Given the description of an element on the screen output the (x, y) to click on. 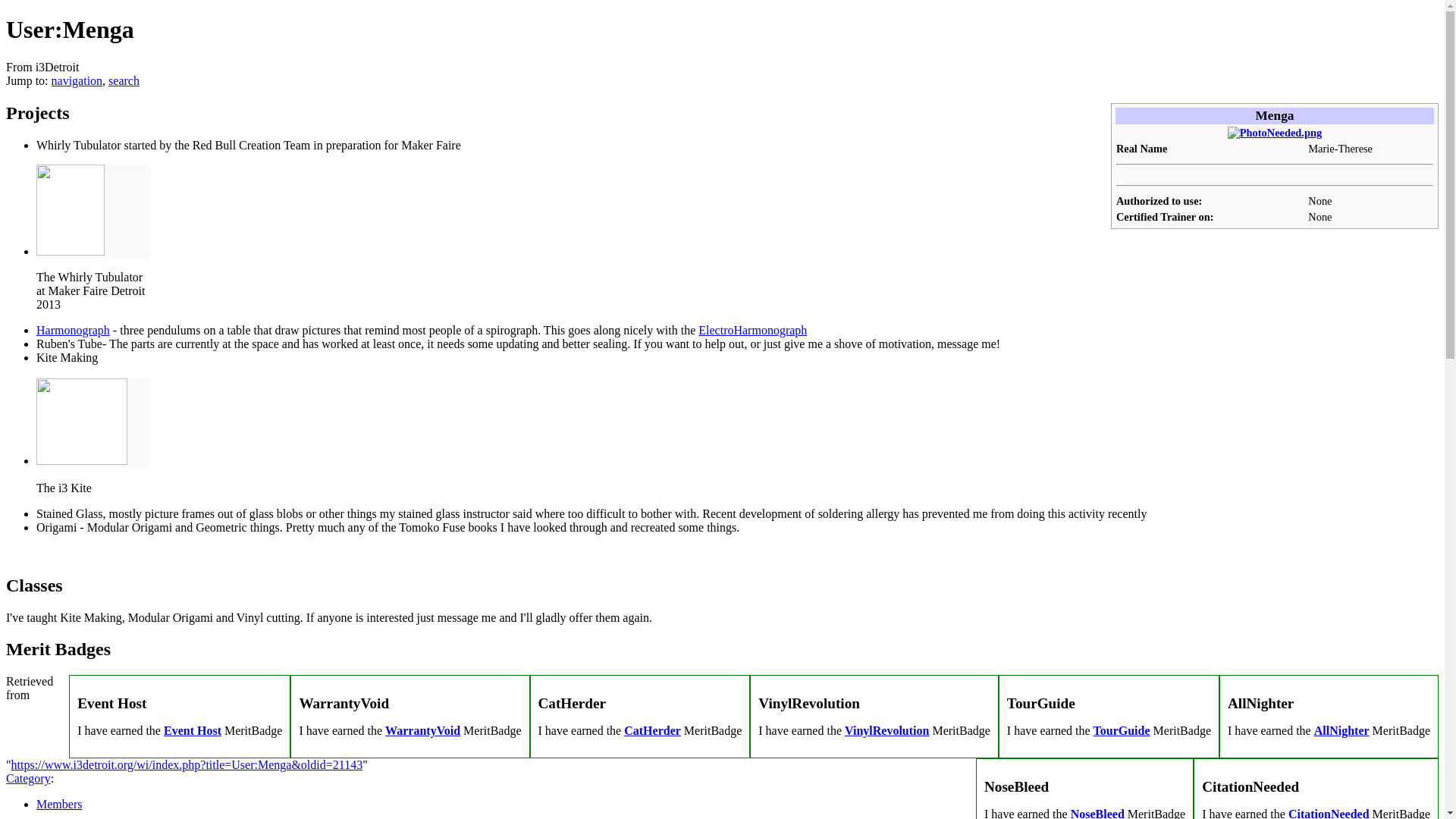
Harmonograph (73, 329)
WarrantyVoid (422, 730)
Event Host (192, 730)
NoseBleed (1097, 813)
Special:Categories (27, 778)
Harmonograph (73, 329)
ElectroHarmonograph (752, 329)
Event Host (192, 730)
AllNighter (1342, 730)
TourGuide (1121, 730)
